Given the description of an element on the screen output the (x, y) to click on. 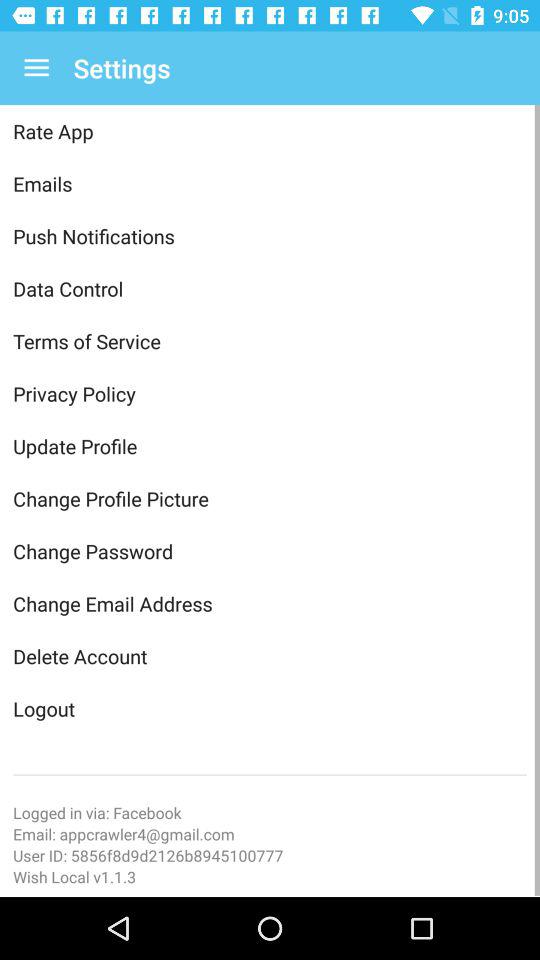
turn on the icon above wish local v1 item (269, 855)
